Given the description of an element on the screen output the (x, y) to click on. 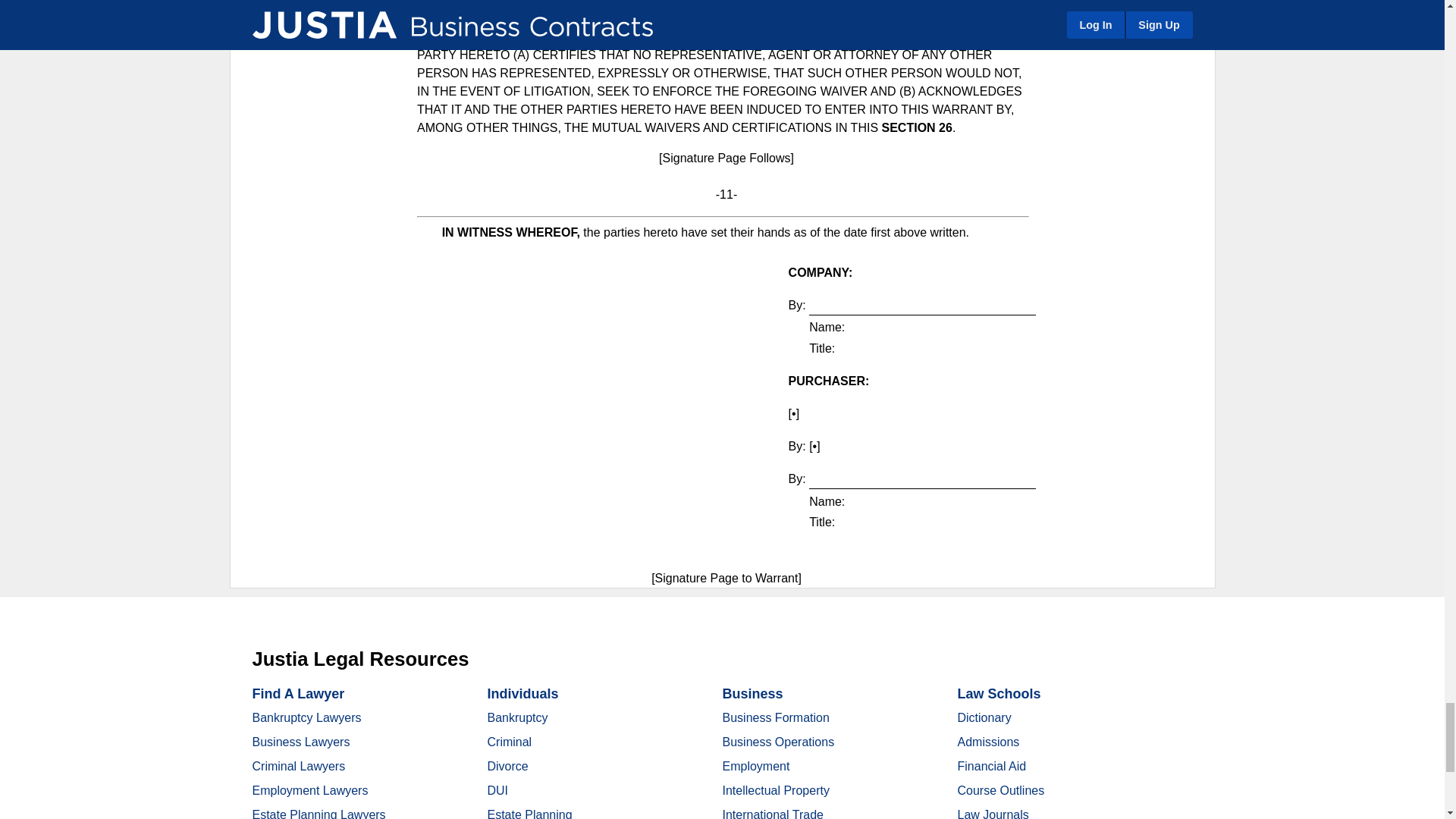
Find A Lawyer (297, 693)
Employment Lawyers (309, 789)
Bankruptcy Lawyers (306, 717)
Criminal Lawyers (298, 766)
Business Lawyers (300, 741)
Estate Planning Lawyers (318, 813)
